Given the description of an element on the screen output the (x, y) to click on. 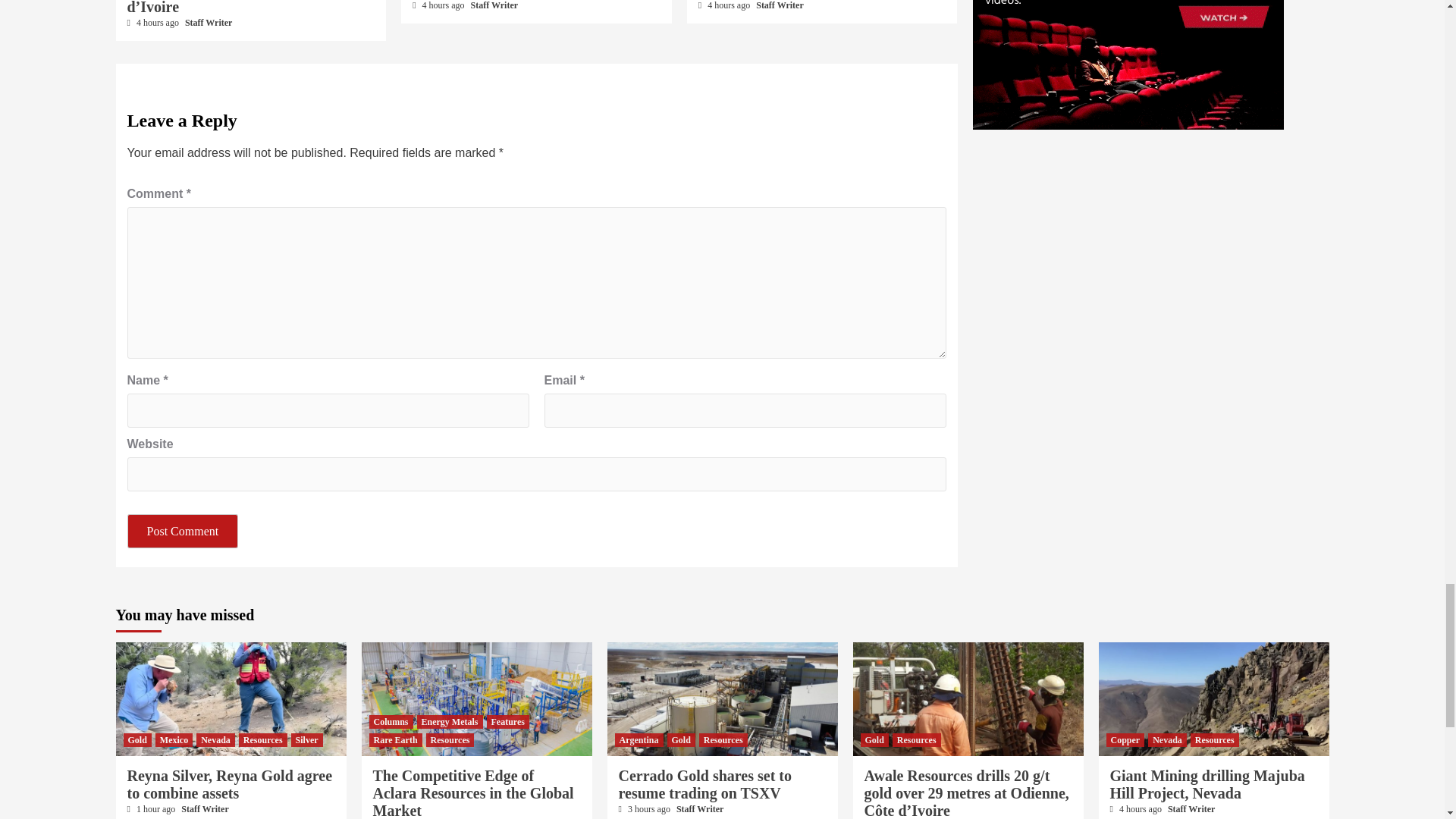
Post Comment (183, 530)
